Given the description of an element on the screen output the (x, y) to click on. 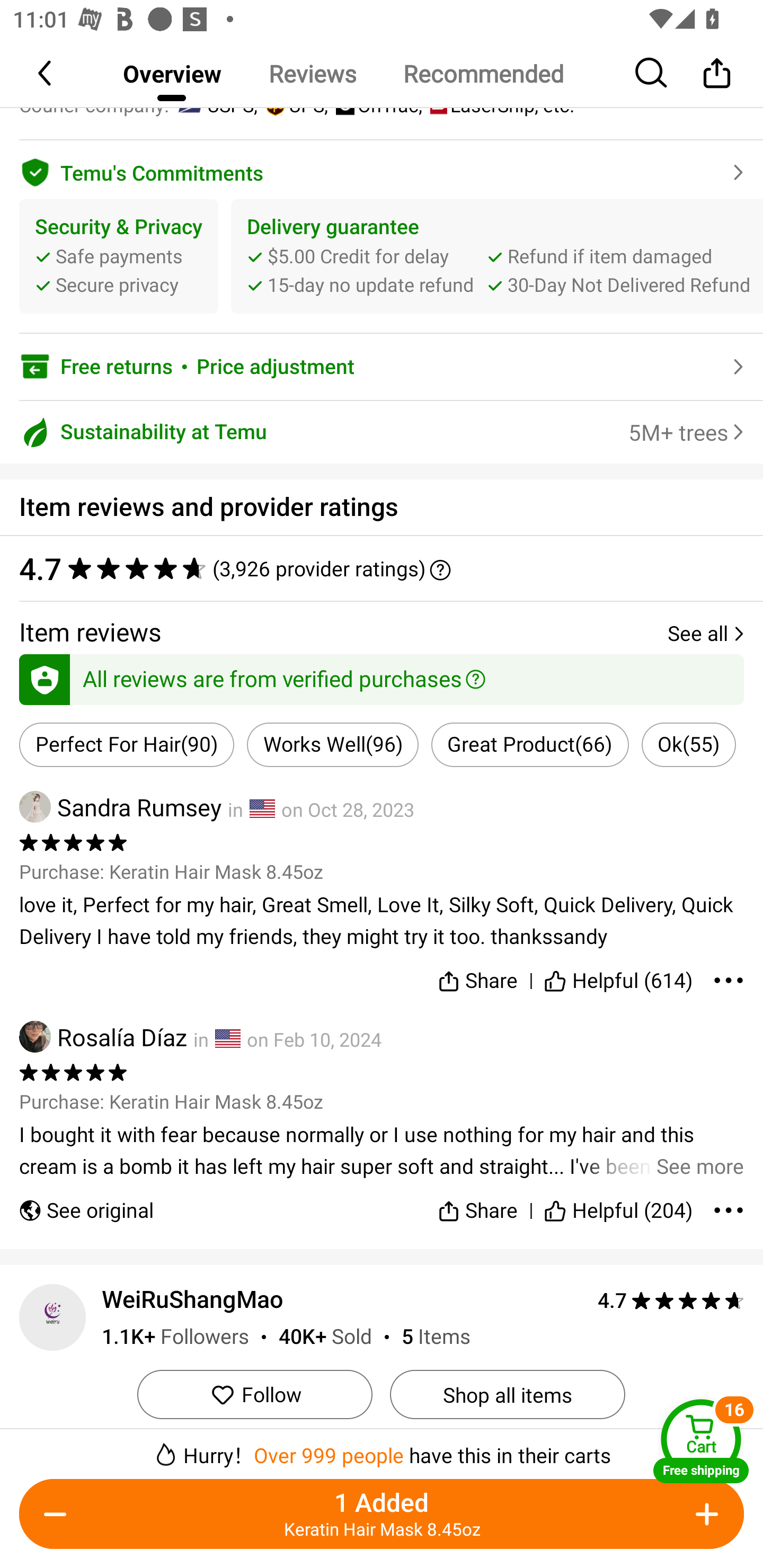
Overview (171, 72)
Reviews (311, 72)
Recommended (482, 72)
Back (46, 72)
Share (716, 72)
Temu's Commitments (381, 170)
Security & Privacy Safe payments Secure privacy (118, 256)
Free returns￼Price adjustment (381, 366)
Sustainability at Temu 5M+ trees (381, 432)
4.7 ‪(3,926 provider ratings) (381, 568)
All reviews are from verified purchases  (381, 676)
Perfect For Hair(90) (126, 744)
Works Well(96) (332, 744)
Great Product(66) (529, 744)
Ok(55) (688, 744)
Sandra Rumsey (120, 806)
  Share (477, 976)
  Helpful (614) (618, 976)
Rosalía Díaz (102, 1036)
See more (381, 1150)
  See original (86, 1202)
  Share (477, 1202)
  Helpful (204) (618, 1202)
  Follow (254, 1394)
Shop all items (506, 1394)
Cart Free shipping Cart (701, 1440)
￼￼Hurry！Over 999 people have this in their carts (381, 1448)
Decrease Quantity Button (59, 1513)
Add Quantity button (703, 1513)
